Given the description of an element on the screen output the (x, y) to click on. 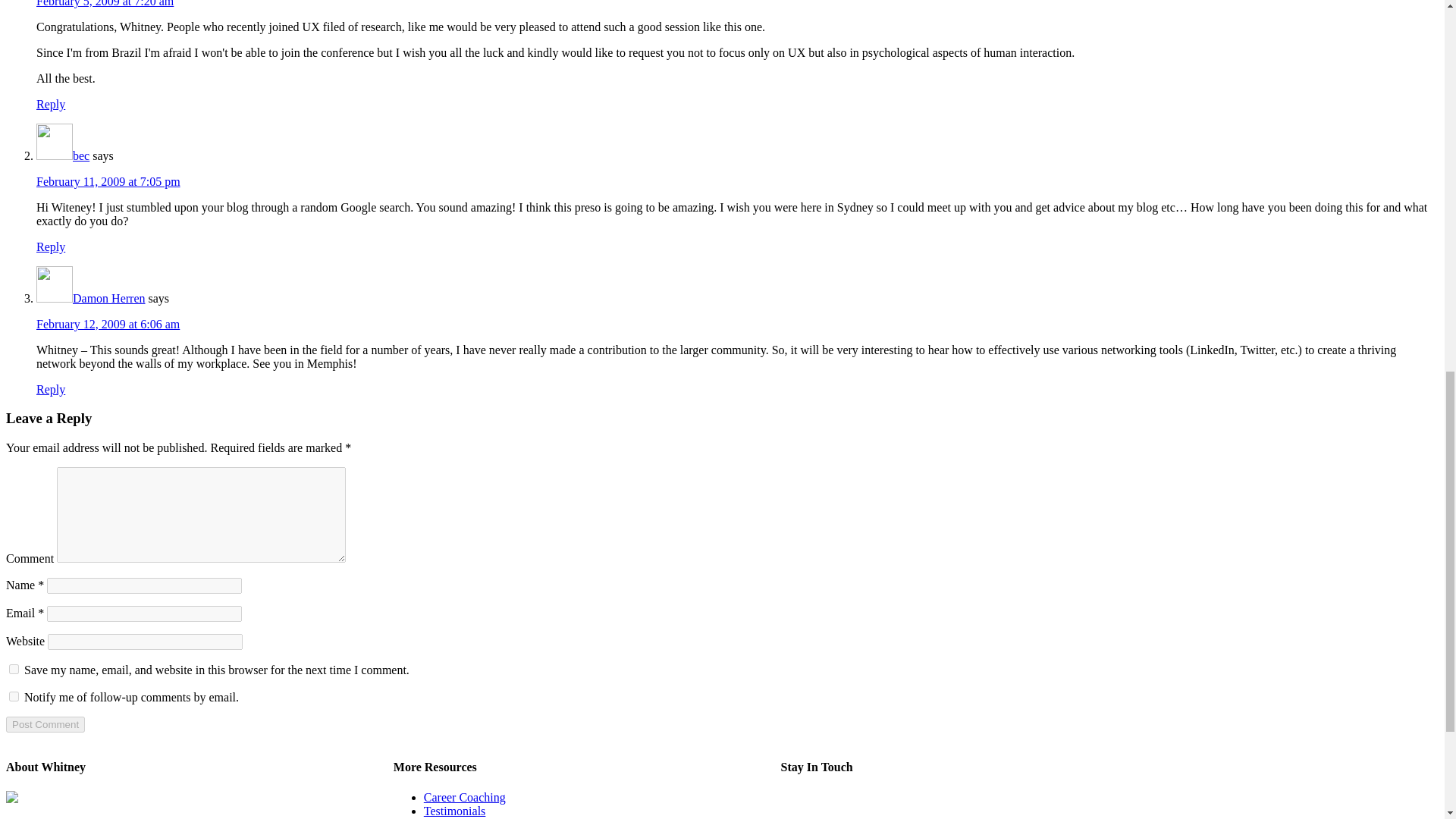
bec (80, 155)
Reply (50, 389)
Reply (50, 103)
February 5, 2009 at 7:20 am (104, 3)
Post Comment (44, 724)
subscribe (13, 696)
yes (13, 669)
Reply (50, 246)
Damon Herren (108, 297)
February 12, 2009 at 6:06 am (107, 323)
